Given the description of an element on the screen output the (x, y) to click on. 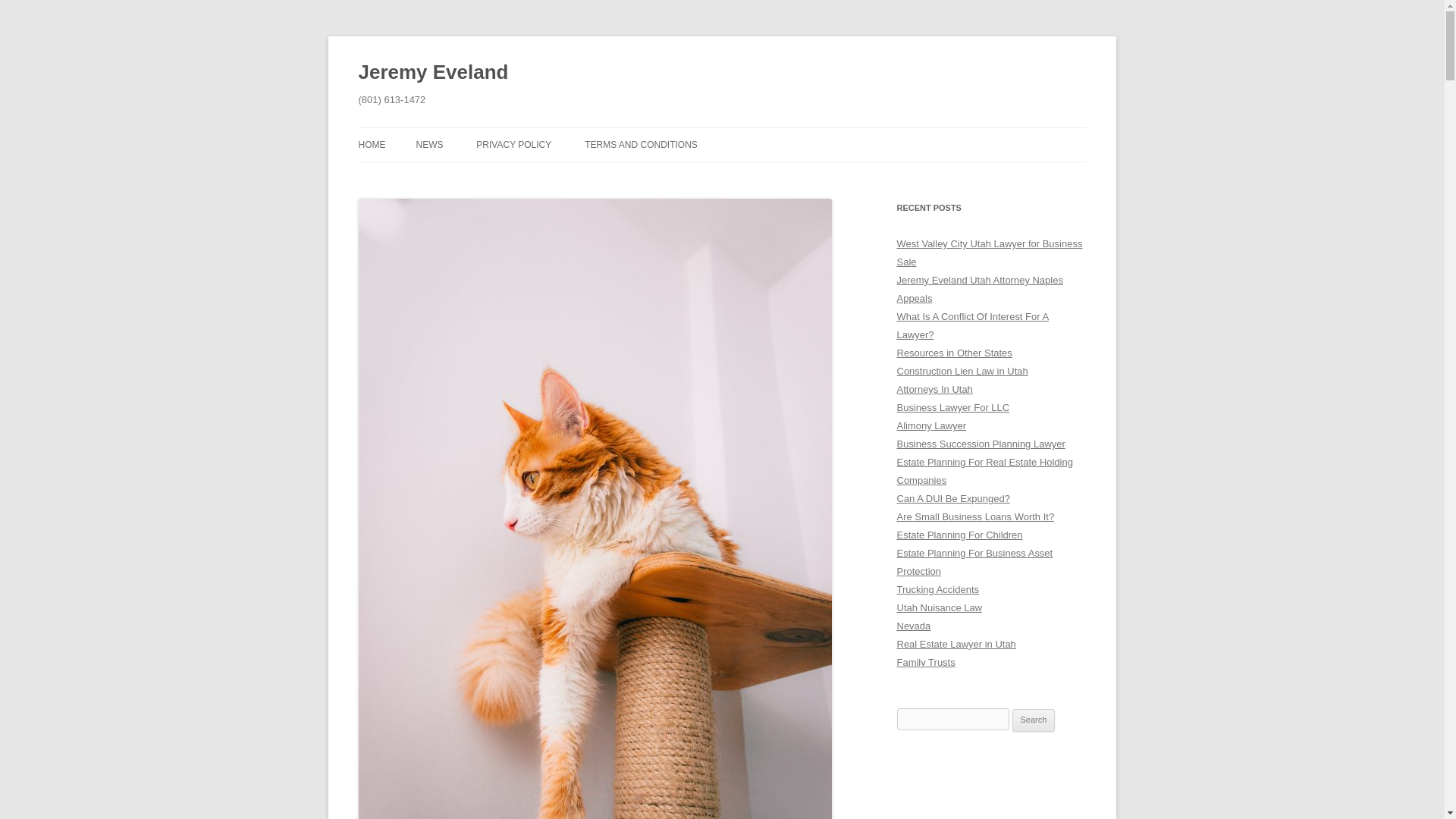
Estate Planning For Real Estate Holding Companies (983, 471)
Attorneys In Utah (934, 389)
Jeremy Eveland (433, 72)
Construction Lien Law in Utah (961, 370)
Search (1033, 720)
West Valley City Utah Lawyer for Business Sale (988, 252)
Trucking Accidents (937, 589)
PRIVACY POLICY (513, 144)
Real Estate Lawyer in Utah (955, 644)
Alimony Lawyer (931, 425)
Estate Planning For Business Asset Protection (974, 562)
Are Small Business Loans Worth It? (975, 516)
Estate Planning For Children (959, 534)
Nevada (913, 625)
Business Lawyer For LLC (952, 407)
